Given the description of an element on the screen output the (x, y) to click on. 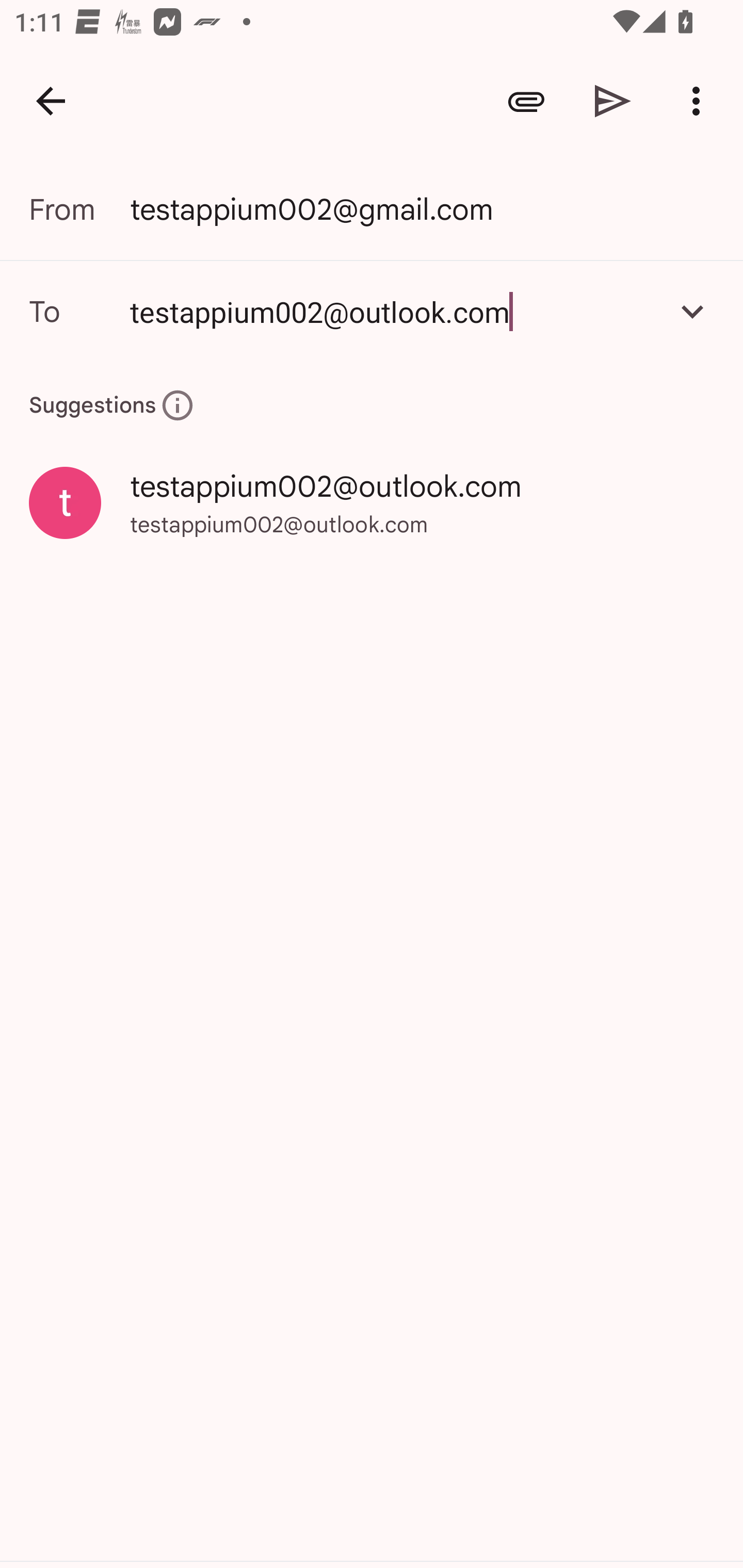
Navigate up (50, 101)
Attach file (525, 101)
Send (612, 101)
More options (699, 101)
From (79, 209)
Add Cc/Bcc (692, 311)
testappium002@outlook.com (371, 311)
testappium002@outlook.com (393, 311)
How suggestions work (177, 405)
